Given the description of an element on the screen output the (x, y) to click on. 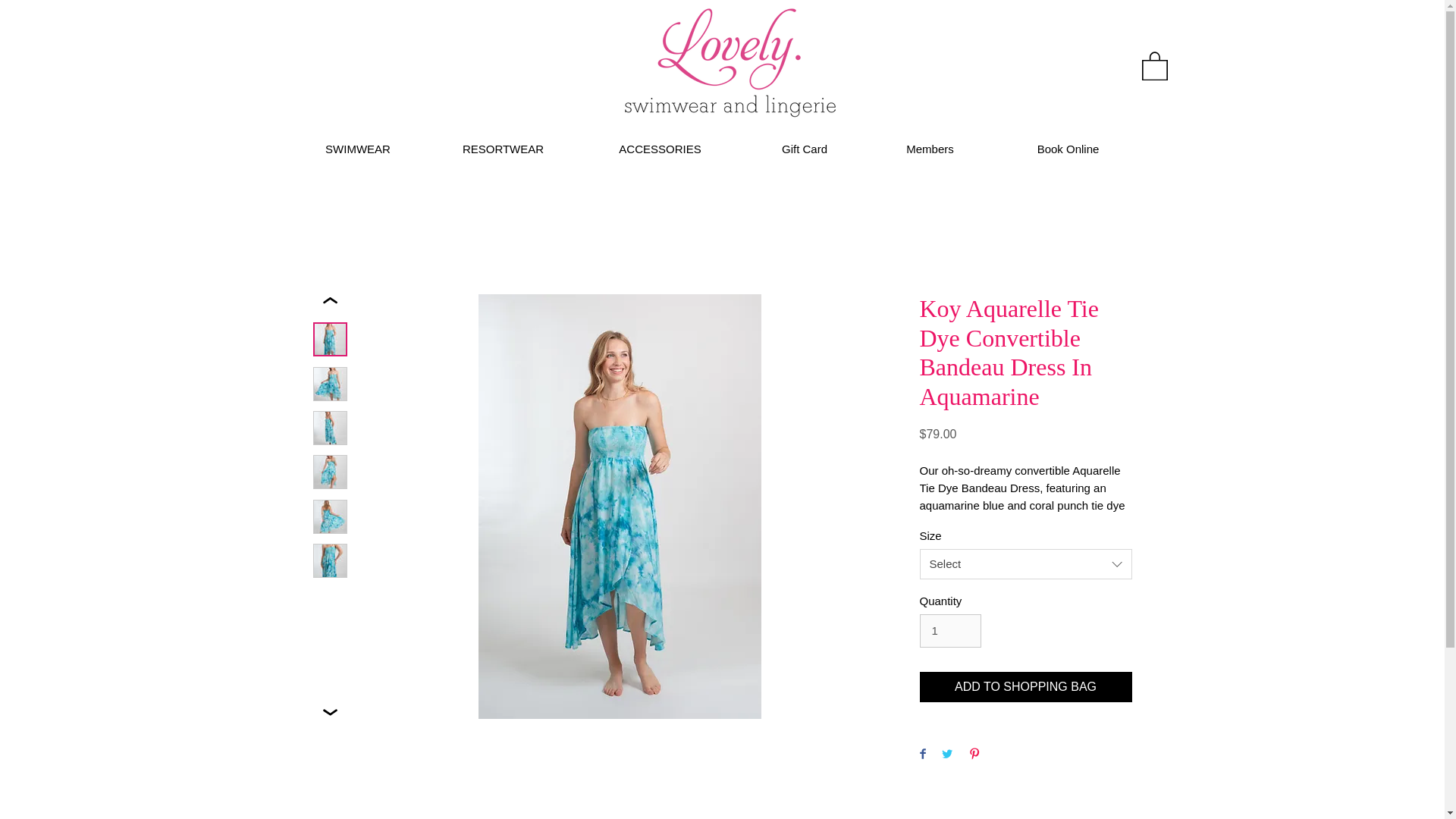
Select (1024, 563)
ACCESSORIES (659, 149)
SWIMWEAR (358, 149)
1 (949, 630)
Members (930, 149)
ADD TO SHOPPING BAG (1024, 686)
Book Online (1068, 149)
Gift Card (803, 149)
LOVELY LADY LUMPS.png (731, 68)
RESORTWEAR (502, 149)
